Given the description of an element on the screen output the (x, y) to click on. 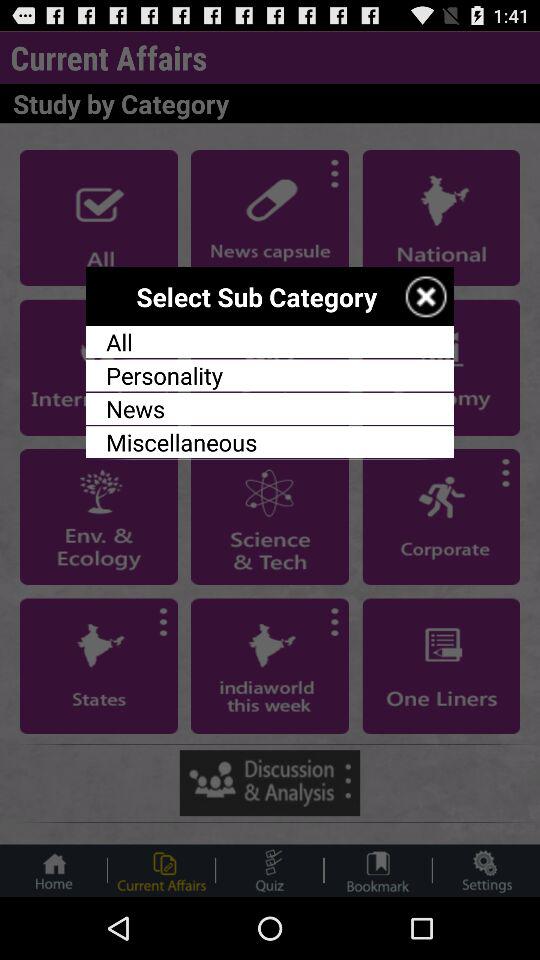
select icon below news (269, 442)
